Given the description of an element on the screen output the (x, y) to click on. 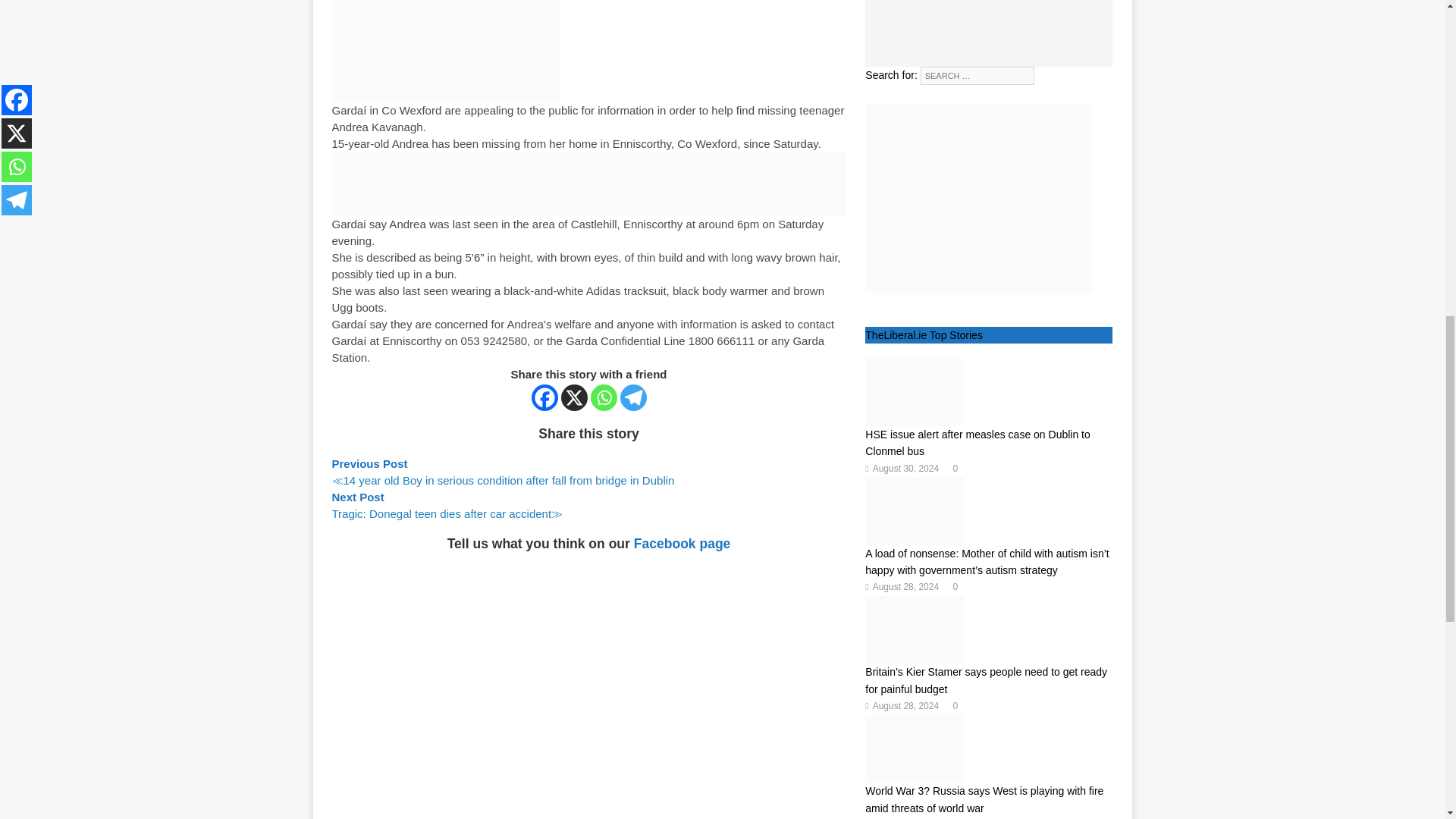
Whatsapp (604, 397)
Facebook (544, 397)
Facebook page (681, 543)
X (574, 397)
Telegram (633, 397)
